Given the description of an element on the screen output the (x, y) to click on. 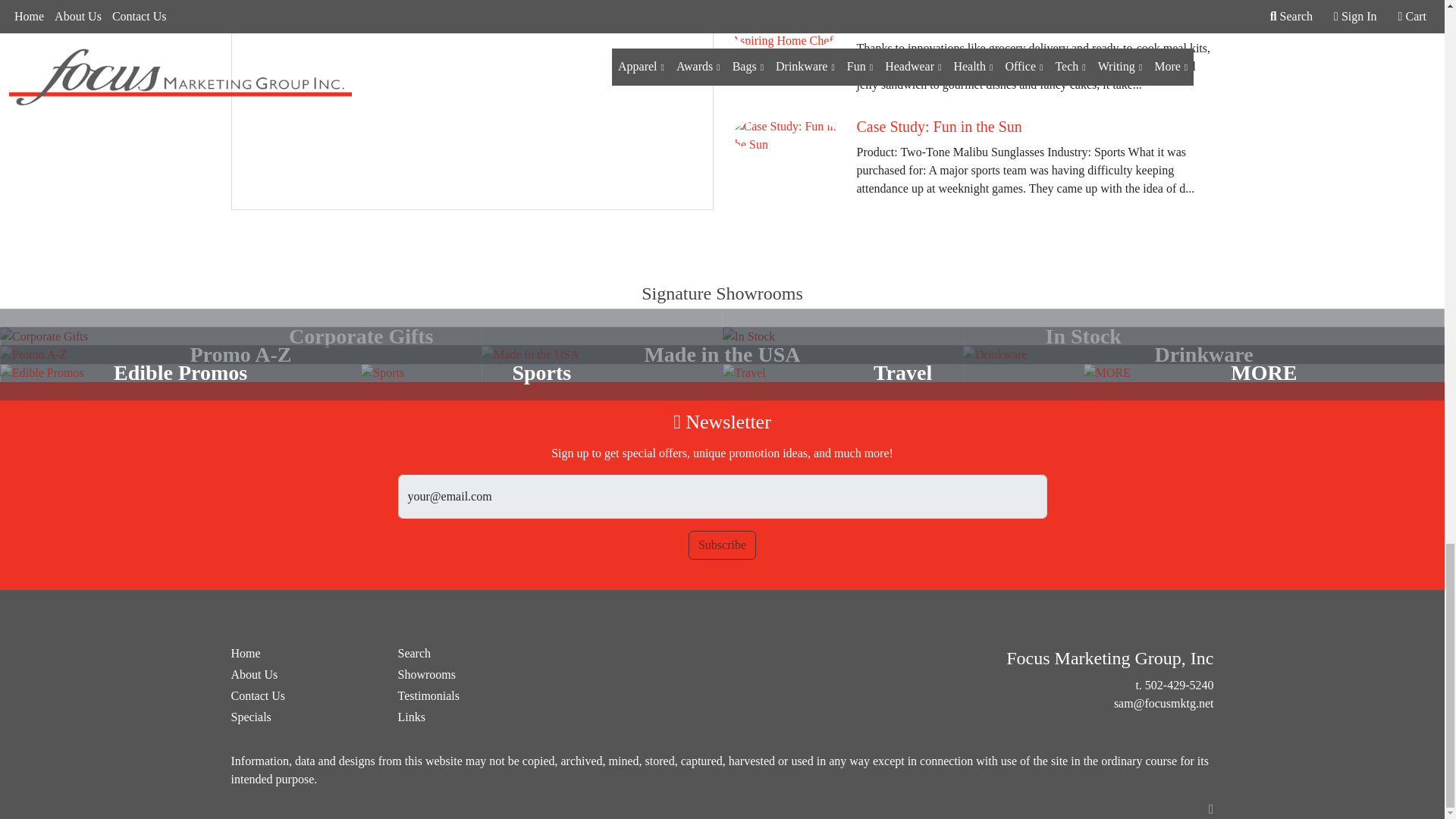
Edible Promos (180, 372)
Corporate Gifts (361, 336)
Made in the USA (721, 354)
Promo A-Z (240, 354)
Sports (541, 372)
Subscribe (721, 544)
Travel (902, 372)
